Given the description of an element on the screen output the (x, y) to click on. 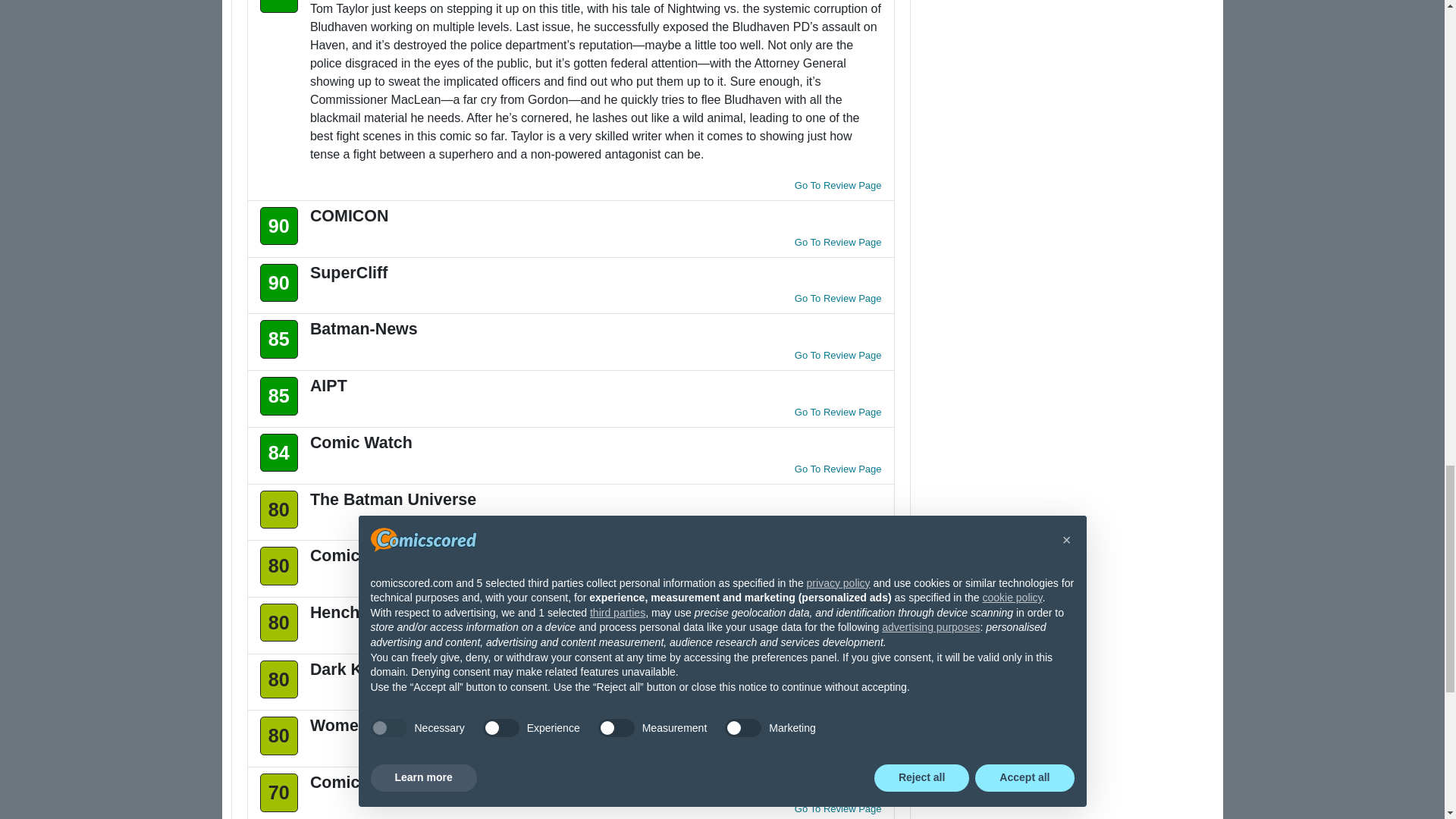
Go To Review Page (838, 297)
Go To Review Page (838, 242)
Go To Review Page (838, 355)
Go To Review Page (838, 184)
